Given the description of an element on the screen output the (x, y) to click on. 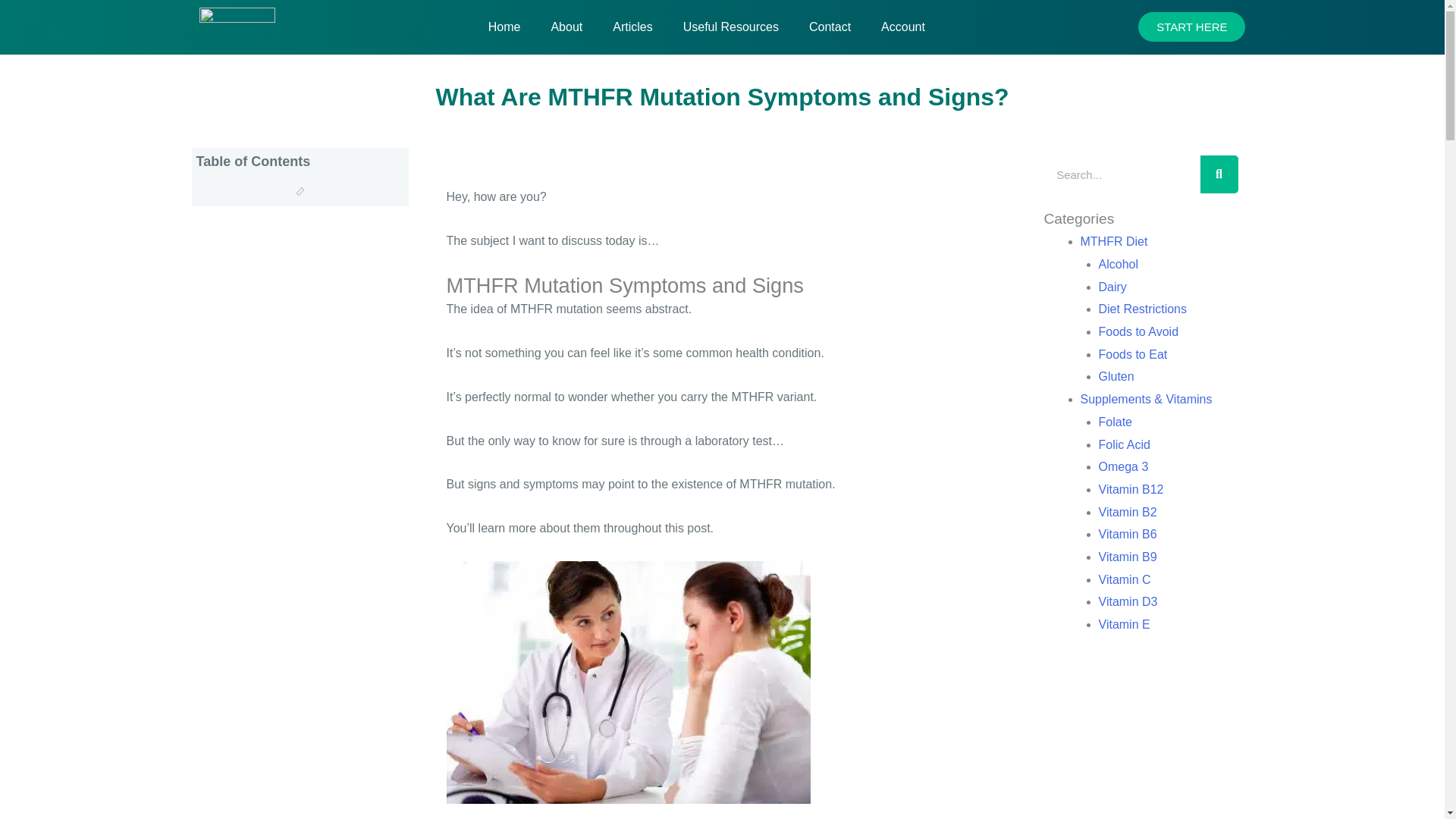
Useful Resources (730, 26)
Folic Acid (1123, 444)
Home (504, 26)
START HERE (1191, 26)
MTHFR Diet (1113, 241)
Account (902, 26)
Gluten (1115, 376)
About (566, 26)
Alcohol (1117, 264)
Omega 3 (1122, 466)
Diet Restrictions (1141, 308)
Search (1218, 174)
Articles (632, 26)
Contact (829, 26)
Vitamin B12 (1130, 489)
